Given the description of an element on the screen output the (x, y) to click on. 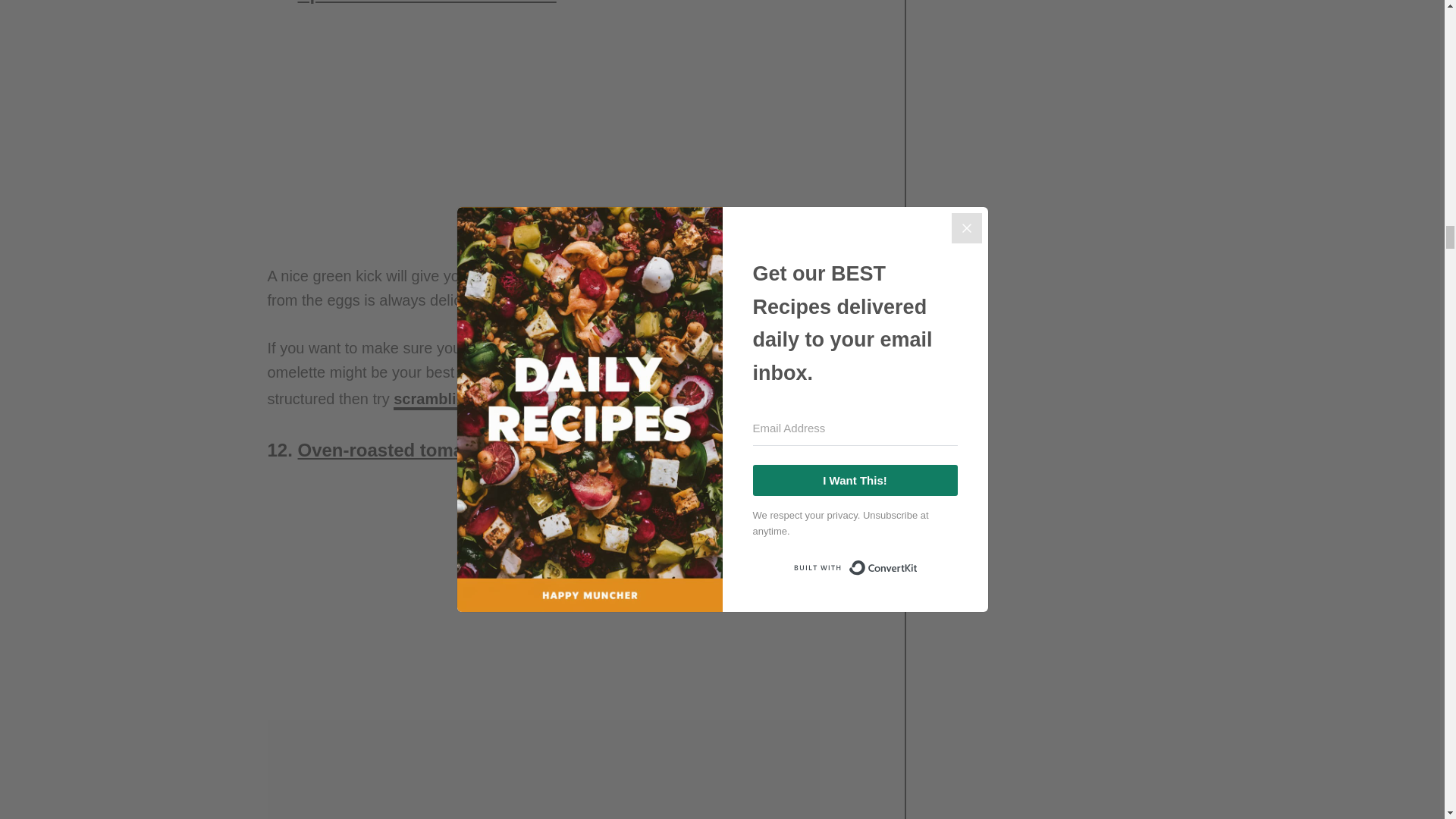
Learn How to Make Dr. Phil's Spinach Scrambled Eggs (478, 136)
Spinach omelette or scramble (427, 2)
